Given the description of an element on the screen output the (x, y) to click on. 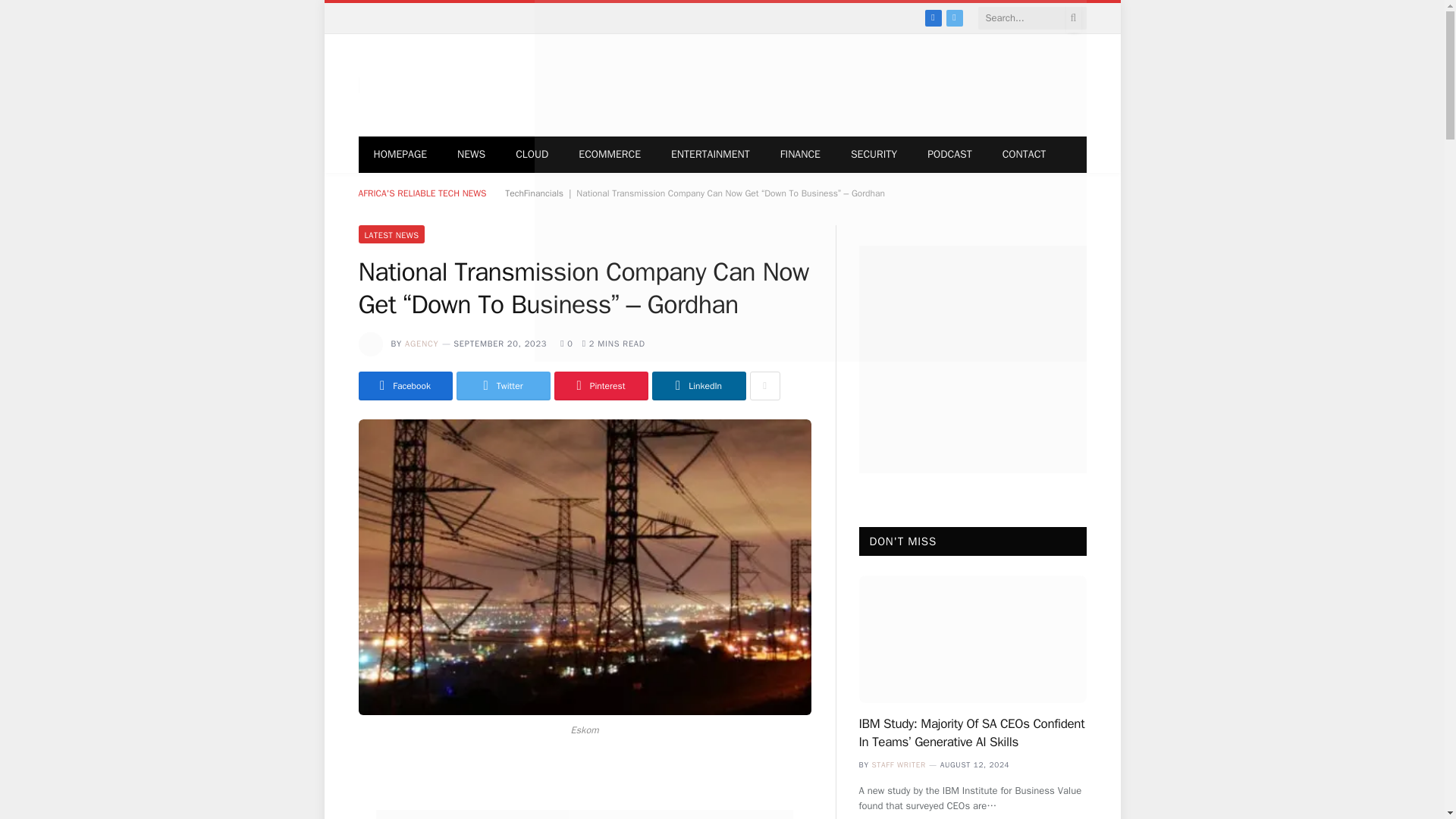
Share on LinkedIn (698, 385)
FINANCE (800, 154)
ECOMMERCE (609, 154)
Posts by Agency (421, 343)
Facebook (933, 17)
HOMEPAGE (400, 154)
Share on Pinterest (600, 385)
PODCAST (949, 154)
TechFinancials (534, 193)
Share on Facebook (404, 385)
